Given the description of an element on the screen output the (x, y) to click on. 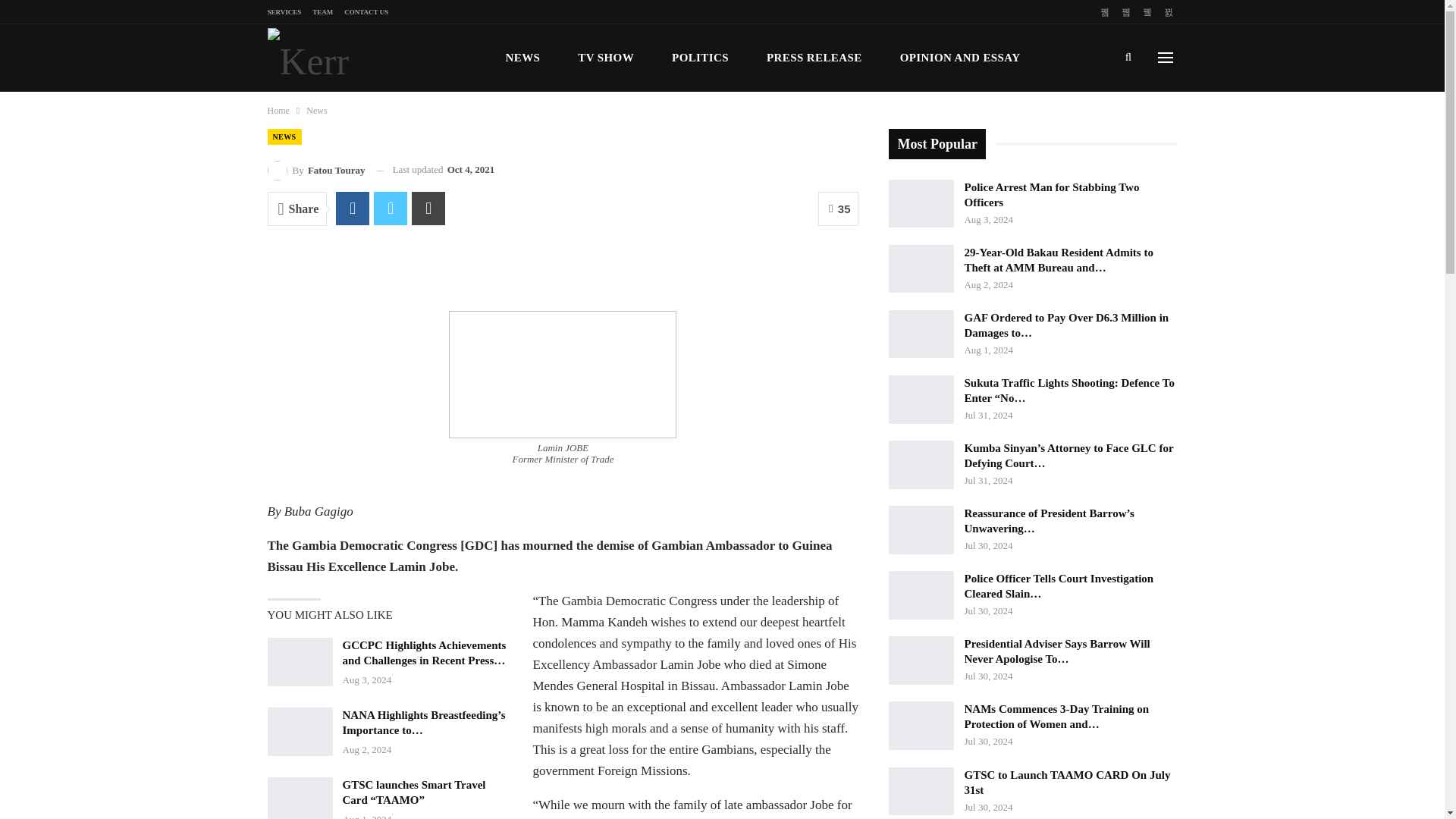
SERVICES (283, 11)
NEWS (283, 136)
Browse Author Articles (315, 169)
POLITICS (699, 57)
News (315, 110)
PRESS RELEASE (814, 57)
TEAM (323, 11)
By Fatou Touray (315, 169)
OPINION AND ESSAY (960, 57)
TV SHOW (605, 57)
CONTACT US (365, 11)
Home (277, 110)
